Given the description of an element on the screen output the (x, y) to click on. 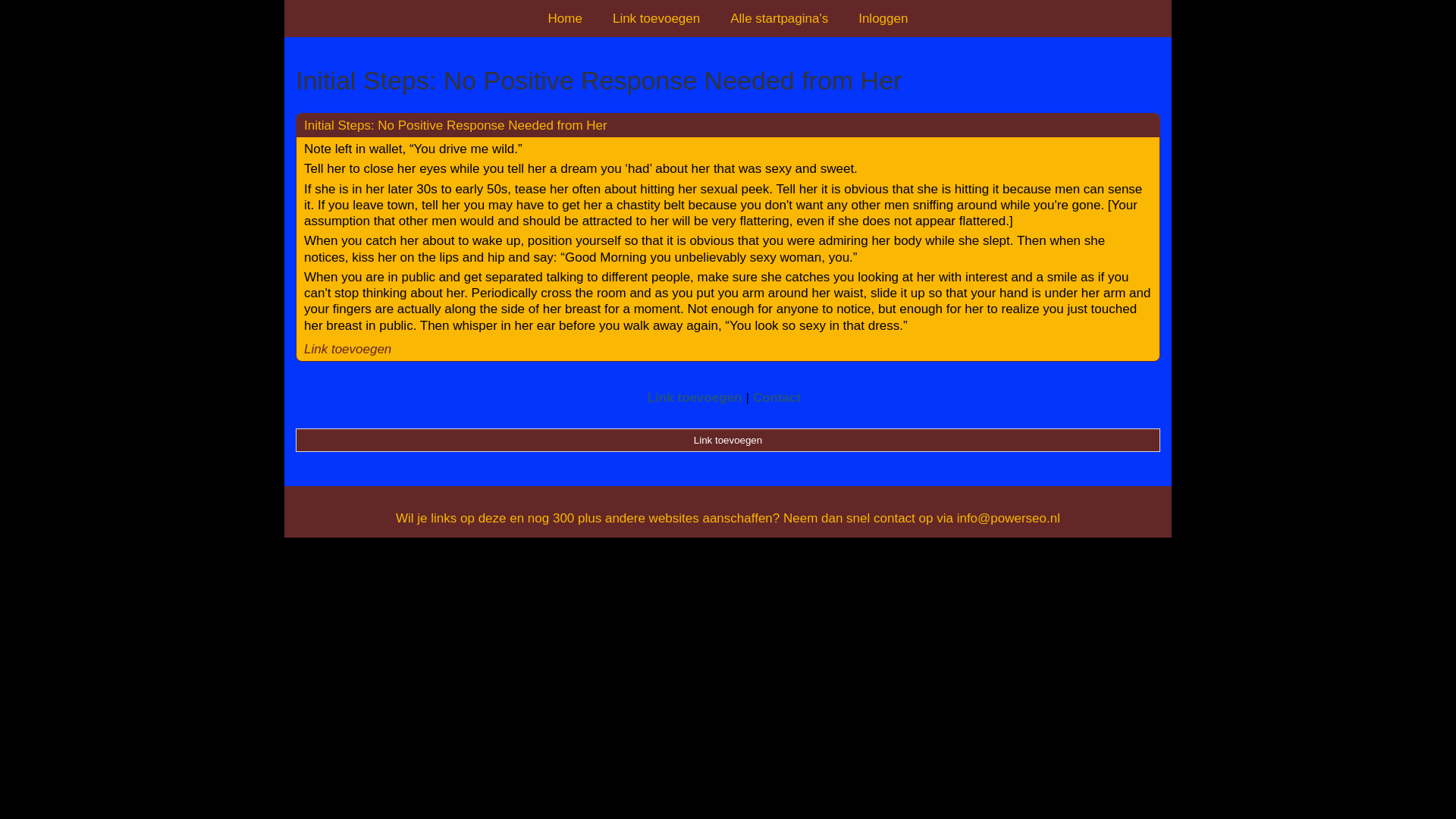
Inloggen (883, 18)
Initial Steps: No Positive Response Needed from Her (455, 124)
Initial Steps: No Positive Response Needed from Her (727, 80)
Link toevoegen (655, 18)
Home (564, 18)
Contact (776, 397)
Alle startpagina's (778, 18)
Link toevoegen (727, 439)
Link toevoegen (694, 397)
Link toevoegen (347, 349)
